Given the description of an element on the screen output the (x, y) to click on. 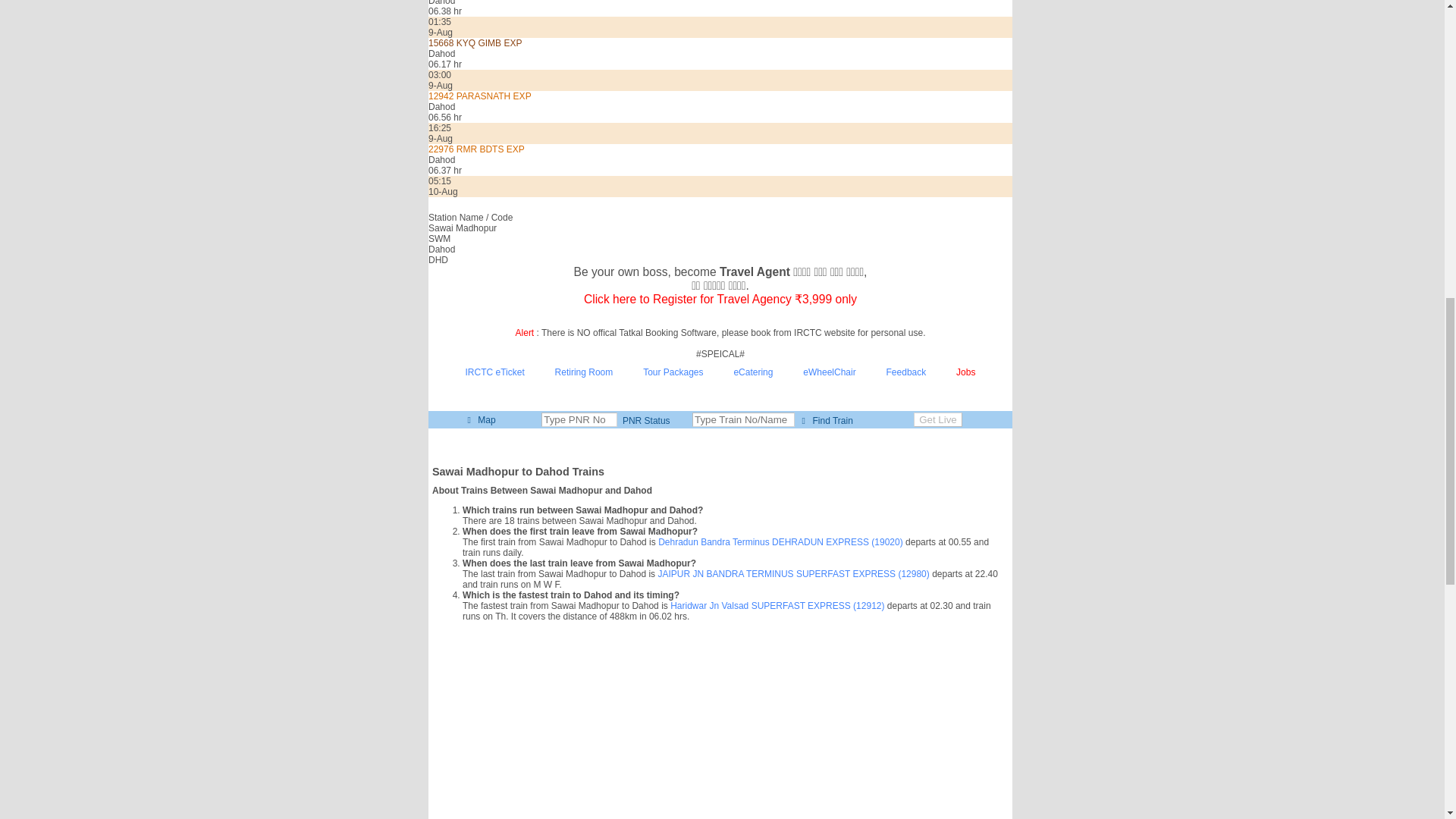
eWheelChair (829, 371)
IRCTC eTicket (494, 371)
Click to get the Full Train Route (823, 420)
Get Live (938, 419)
Click to get the Status of PNR (644, 420)
Enter the 10 digit PNR number (579, 419)
eCatering (753, 371)
 Map (479, 419)
Retiring Room (583, 371)
 Find Train (823, 420)
Enter train number or name to search train (743, 419)
Feedback (906, 371)
Tour Packages (673, 371)
View the route of the train on the map (479, 419)
Jobs (965, 371)
